Given the description of an element on the screen output the (x, y) to click on. 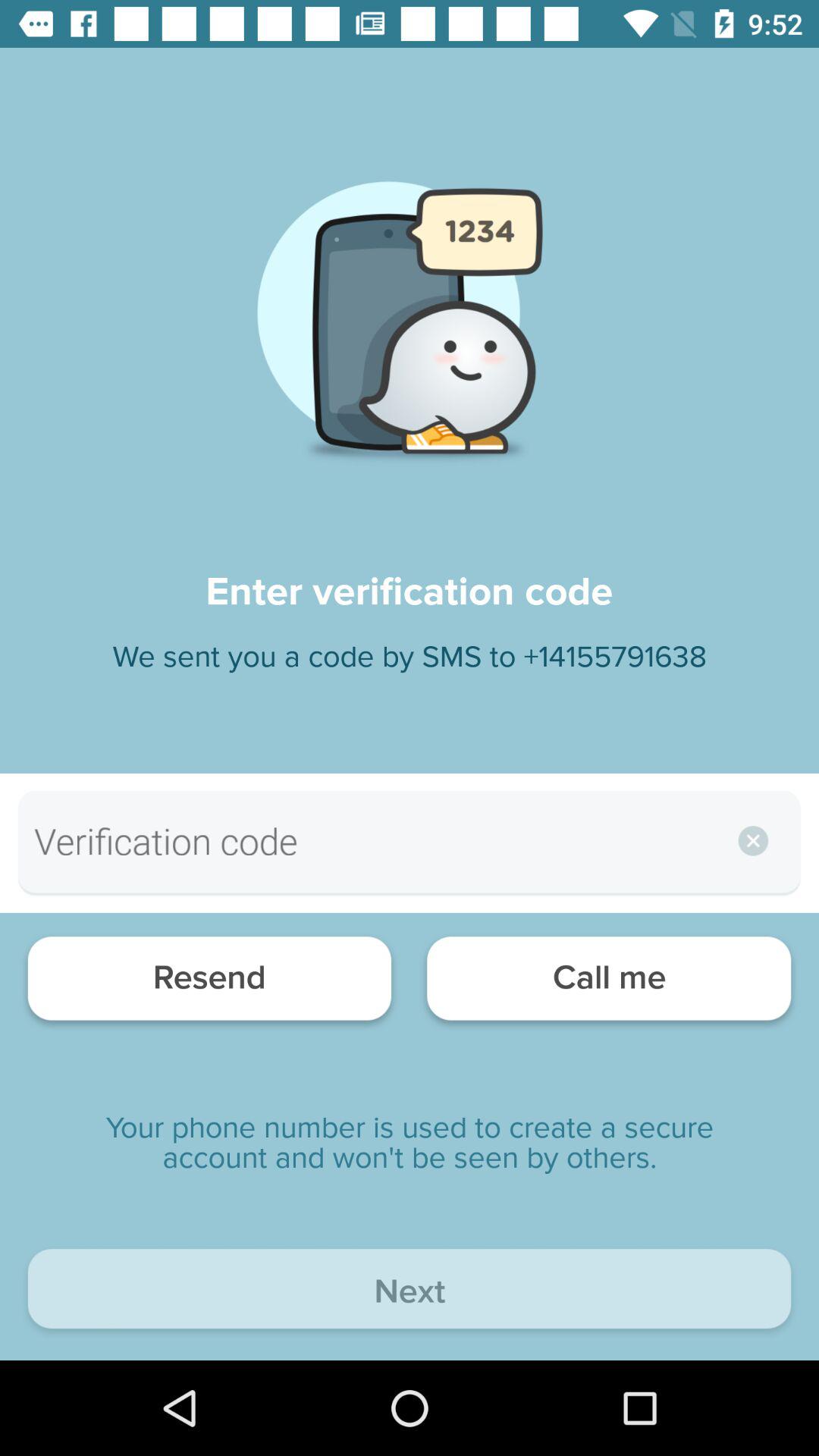
jump until next (409, 1292)
